Given the description of an element on the screen output the (x, y) to click on. 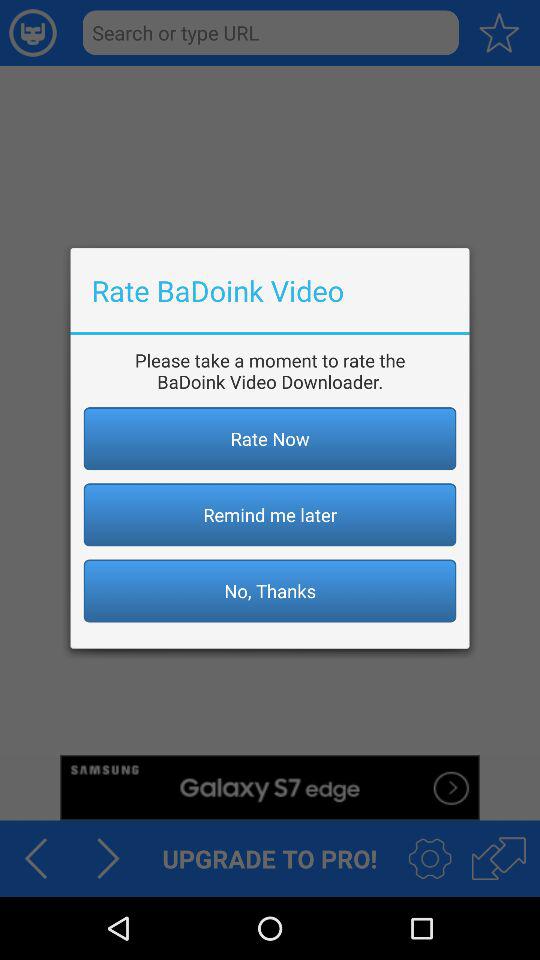
launch item below the remind me later button (269, 590)
